Given the description of an element on the screen output the (x, y) to click on. 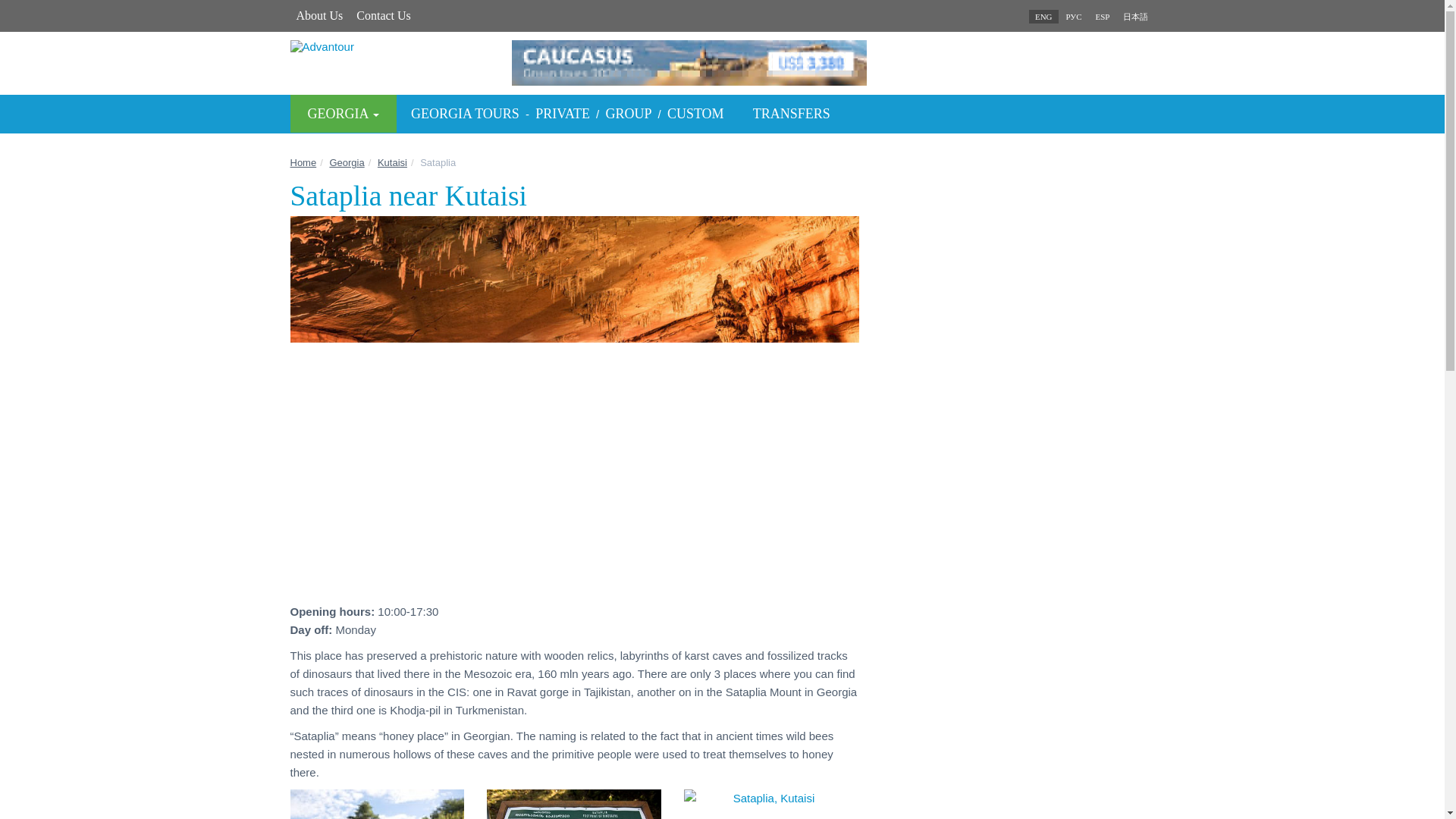
Contact Us (383, 15)
Transfers between cities in Georgia (790, 113)
Sataplia Nature Reserve (573, 804)
Sataplia, Kutaisi (767, 798)
Kutaisi, Georgia (1102, 16)
TRANSFERS (790, 113)
PRIVATE (562, 113)
Kutaisi, Georgia (392, 162)
Georgia (346, 162)
Kutaisi (392, 162)
